Given the description of an element on the screen output the (x, y) to click on. 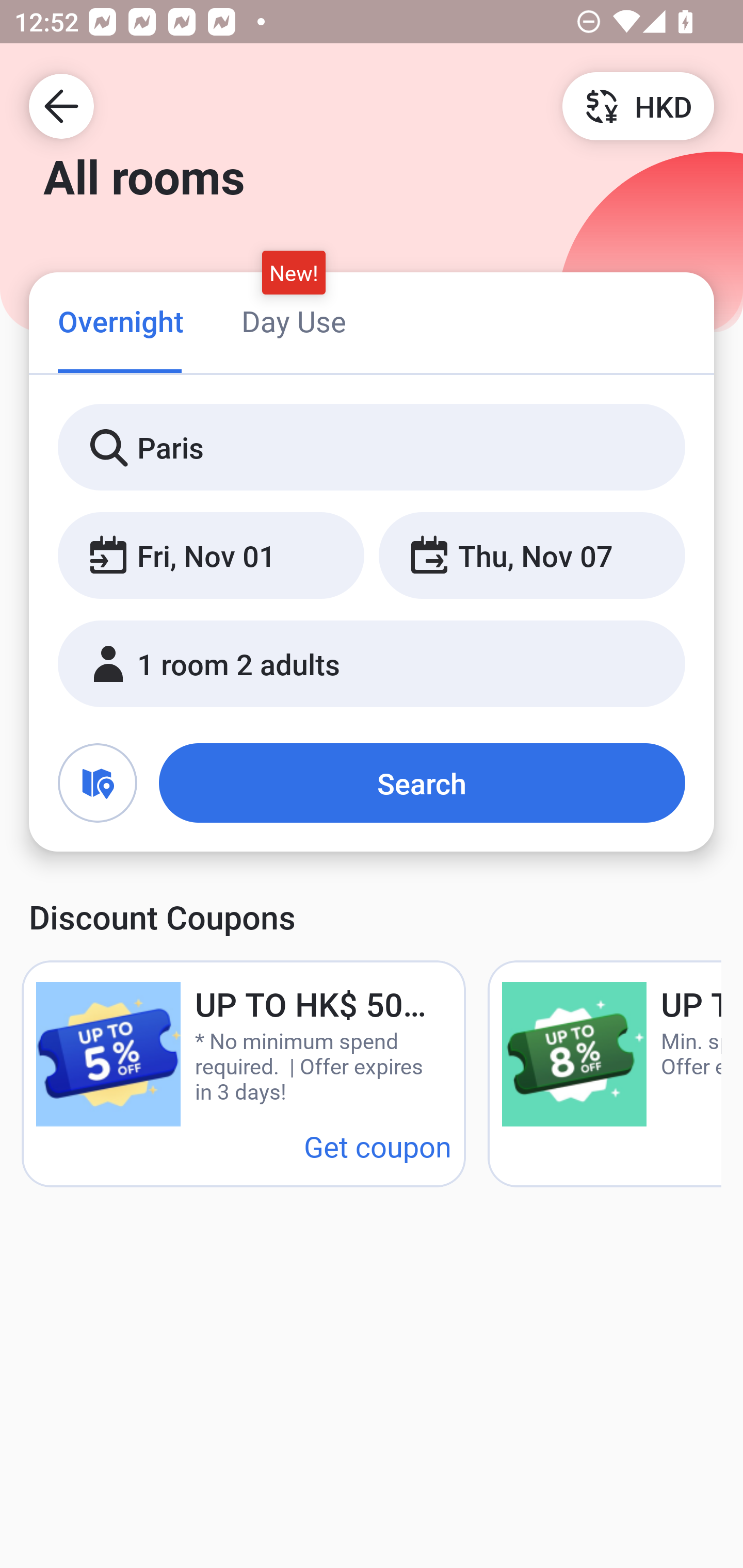
HKD (638, 105)
New! (294, 272)
Day Use (293, 321)
Paris (371, 447)
Fri, Nov 01 (210, 555)
Thu, Nov 07 (531, 555)
1 room 2 adults (371, 663)
Search (422, 783)
Get coupon (377, 1146)
